Given the description of an element on the screen output the (x, y) to click on. 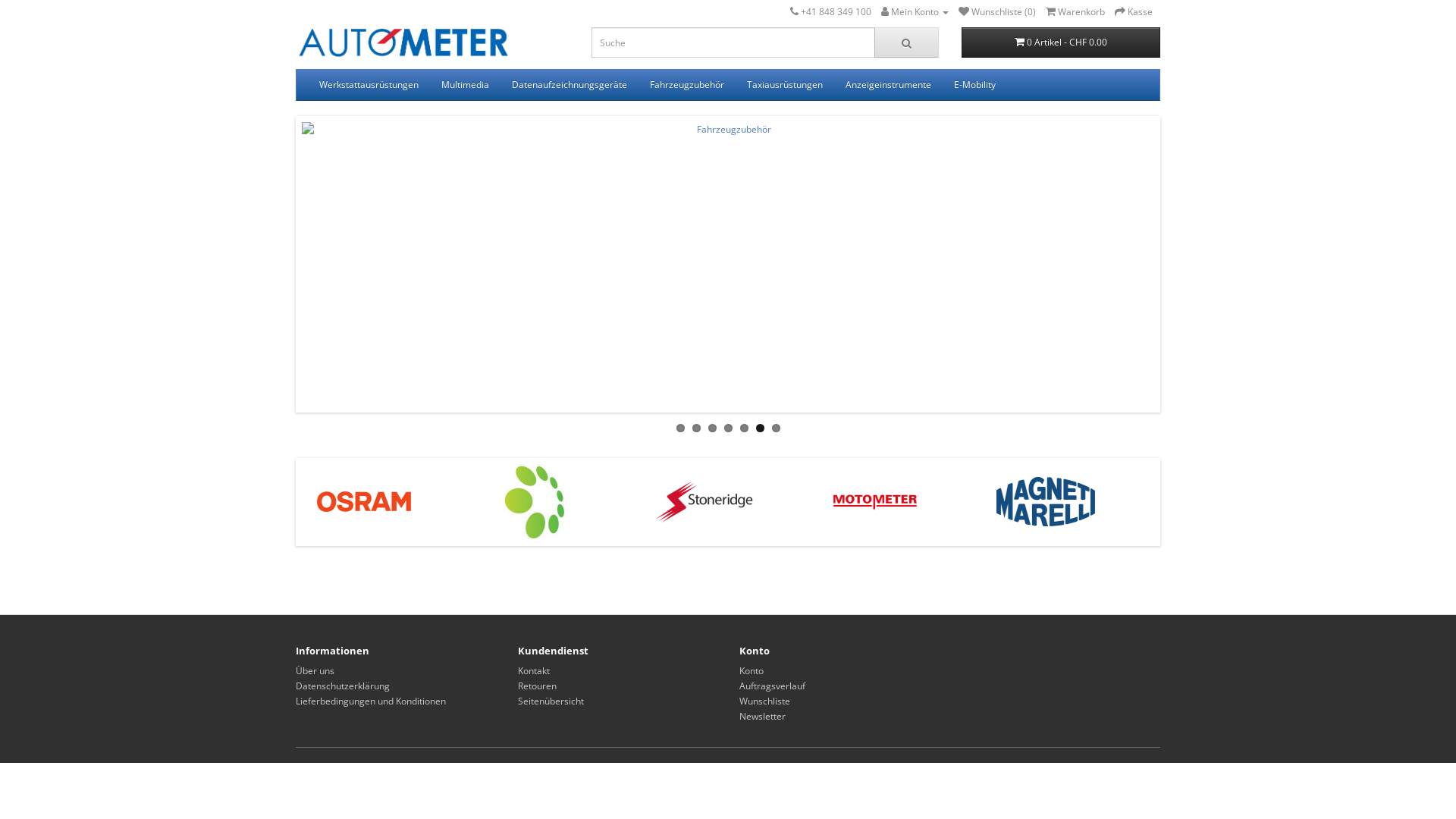
Lieferbedingungen und Konditionen Element type: text (370, 700)
Wunschliste (0) Element type: text (996, 11)
Anzeigeinstrumente Element type: text (888, 84)
Kasse Element type: text (1133, 11)
Kontakt Element type: text (533, 670)
Mein Konto Element type: text (914, 11)
AUTO METER AG  Element type: hover (402, 44)
Wunschliste Element type: text (764, 700)
Newsletter Element type: text (762, 715)
Multimedia Element type: text (464, 84)
0 Artikel - CHF 0.00 Element type: text (1061, 42)
Konto Element type: text (751, 670)
Auftragsverlauf Element type: text (772, 685)
Retouren Element type: text (536, 685)
E-Mobility Element type: text (974, 84)
Warenkorb Element type: text (1074, 11)
